Given the description of an element on the screen output the (x, y) to click on. 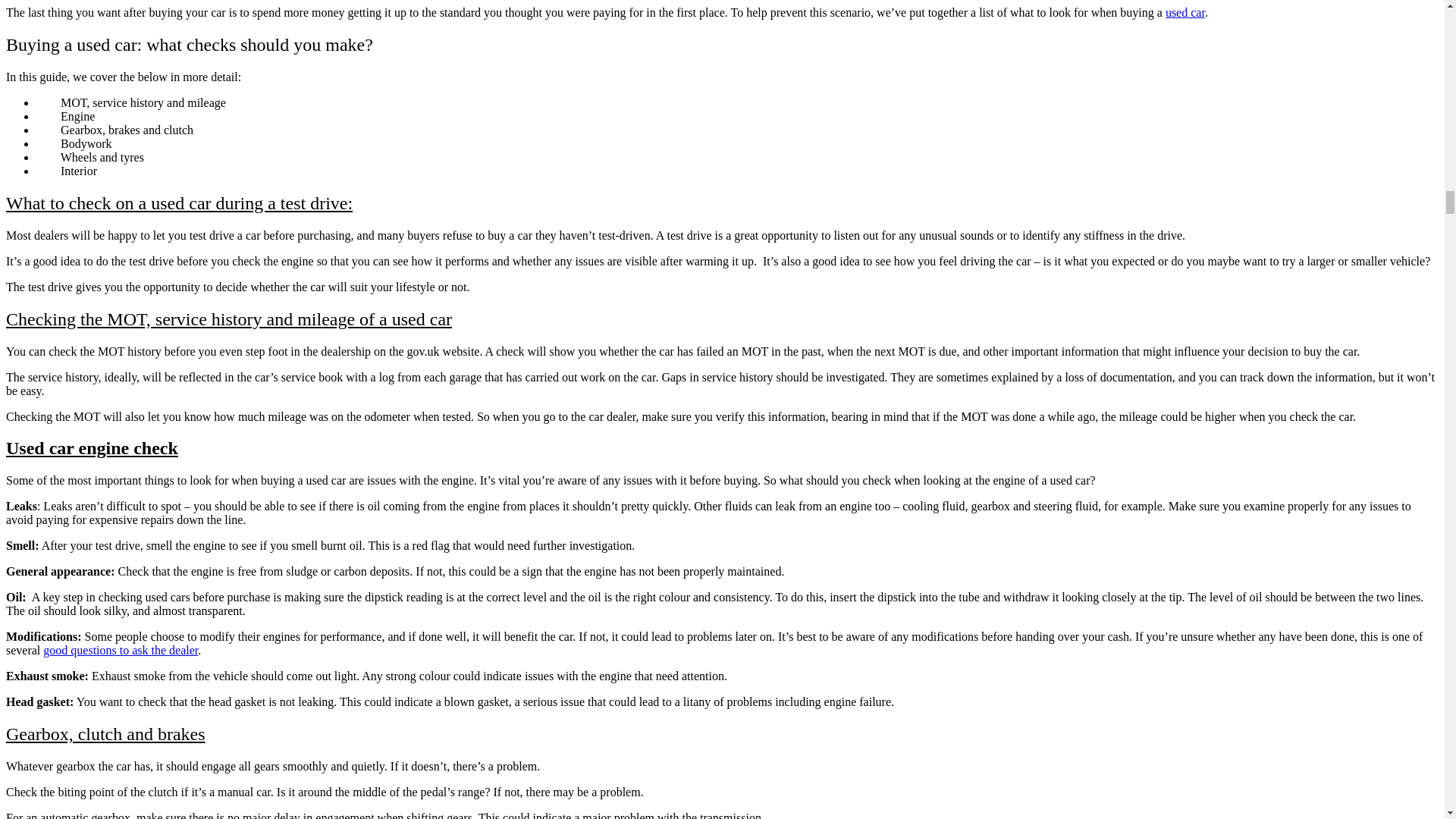
used car (1185, 11)
good questions to ask the dealer (120, 649)
